Given the description of an element on the screen output the (x, y) to click on. 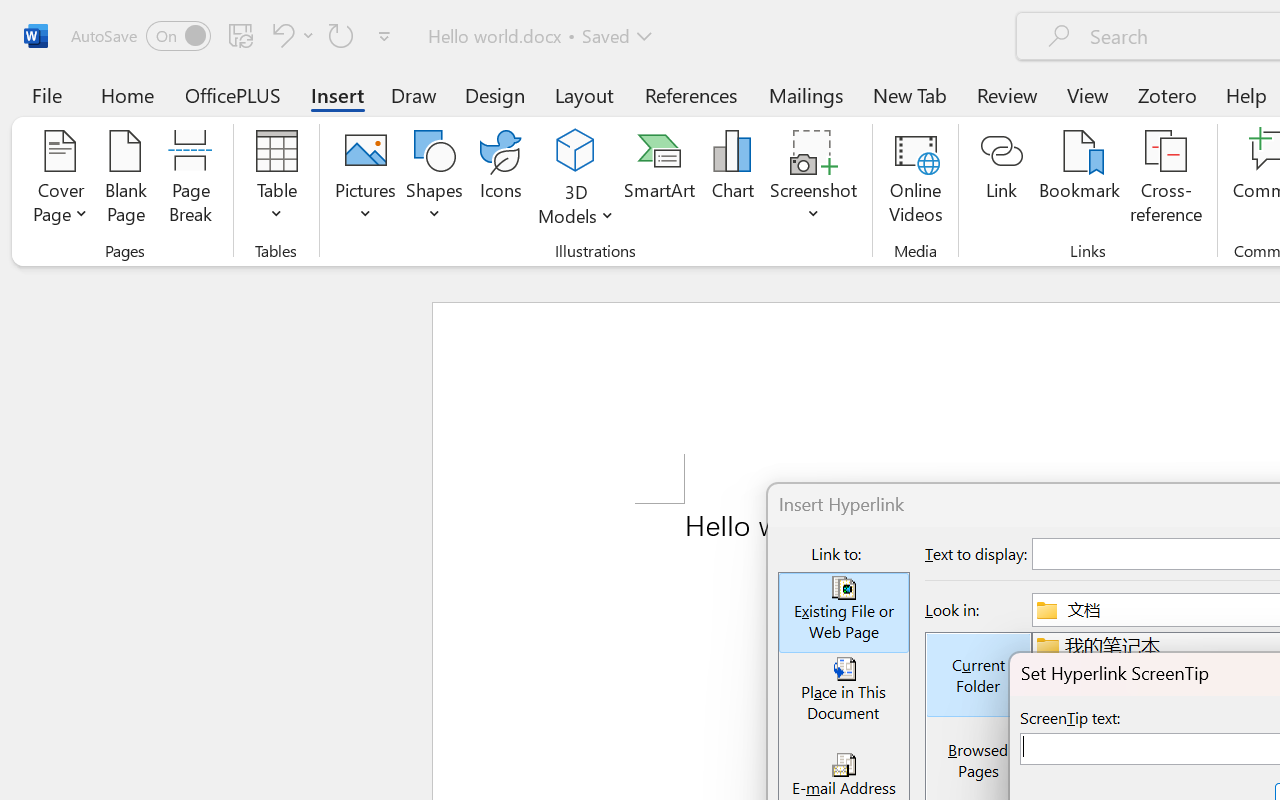
Cover Page (60, 179)
Existing File or Web Page (843, 613)
AutoSave (140, 35)
SmartArt... (659, 179)
3D Models (576, 179)
More Options (576, 208)
Can't Undo (280, 35)
Screenshot (813, 179)
Can't Undo (290, 35)
Chart... (732, 179)
View (1087, 94)
